Given the description of an element on the screen output the (x, y) to click on. 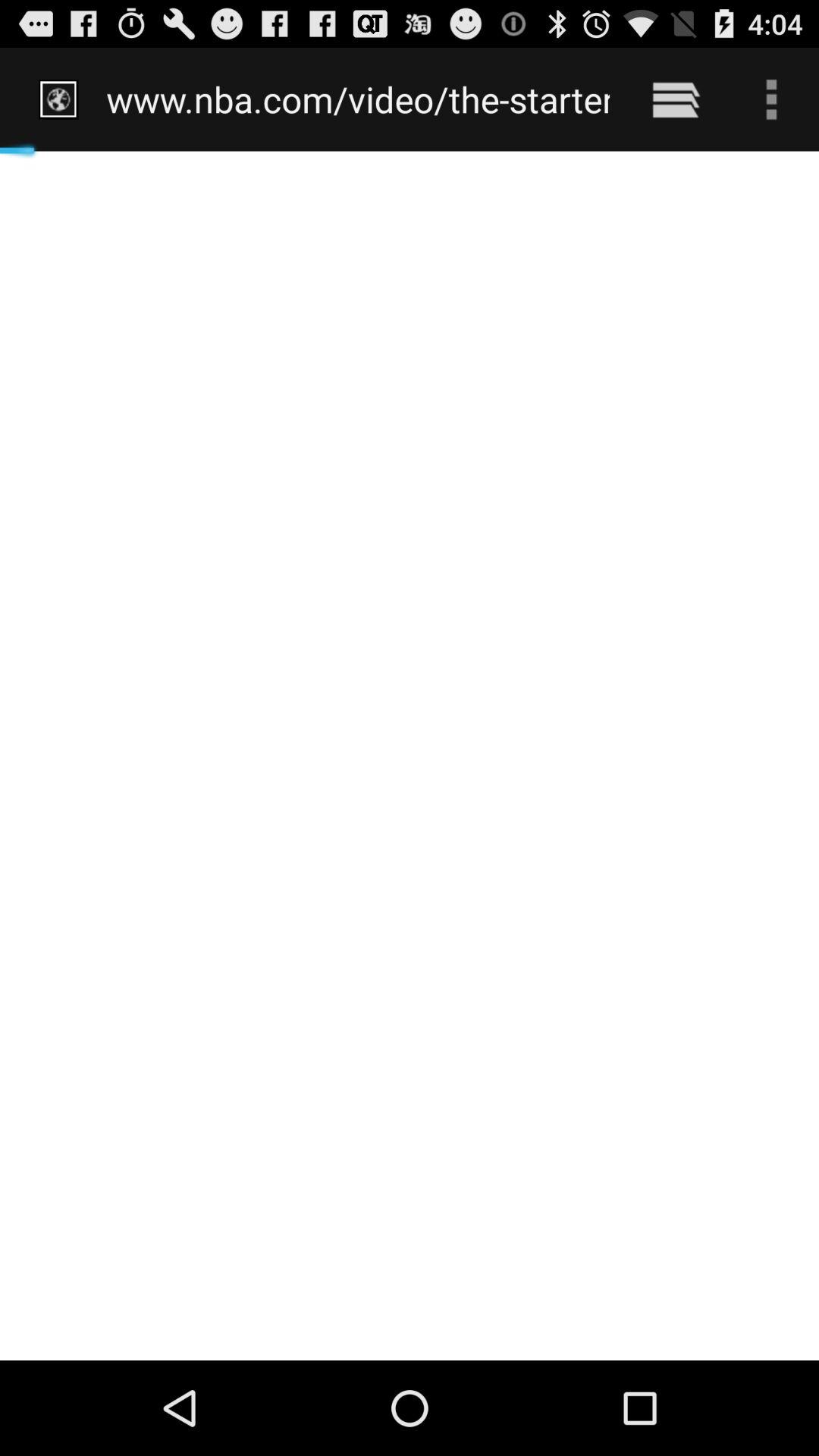
flip until www nba com (357, 99)
